Given the description of an element on the screen output the (x, y) to click on. 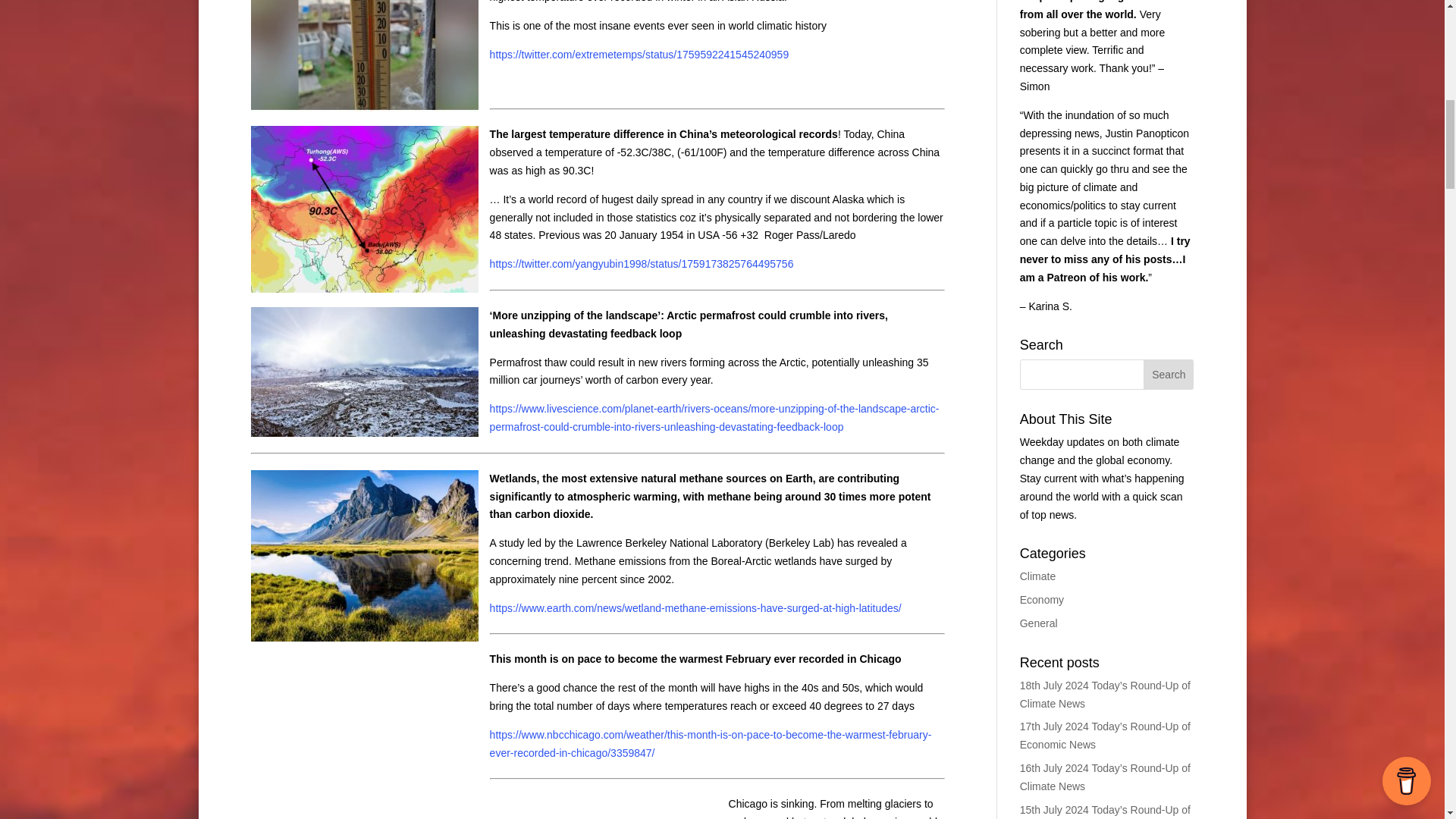
Search (1167, 374)
